Given the description of an element on the screen output the (x, y) to click on. 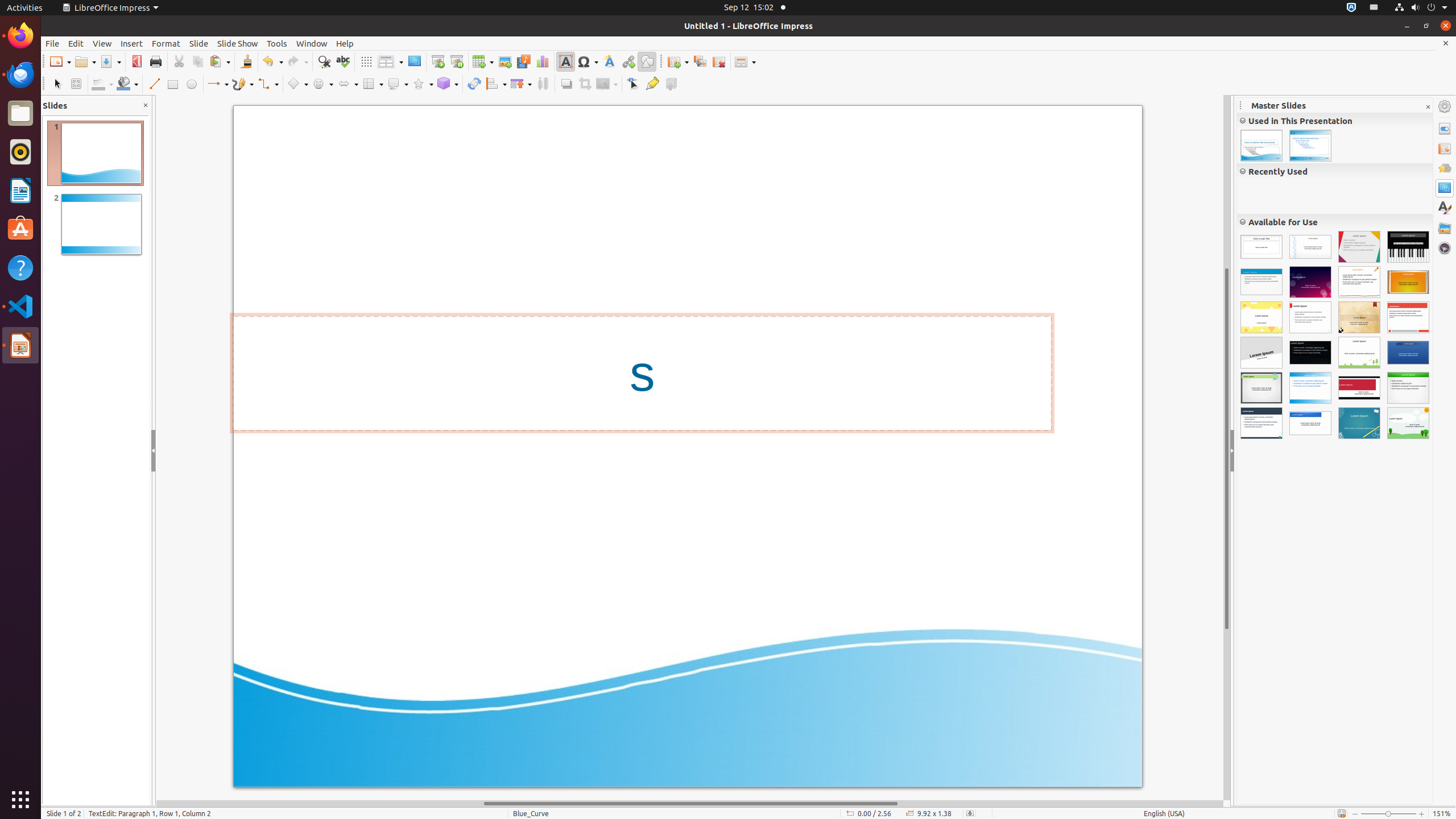
Edit Points Element type: push-button (632, 83)
Glue Points Element type: push-button (651, 83)
Edit Element type: menu (75, 43)
Shadow Element type: toggle-button (565, 83)
Lights Element type: list-item (1309, 281)
